Given the description of an element on the screen output the (x, y) to click on. 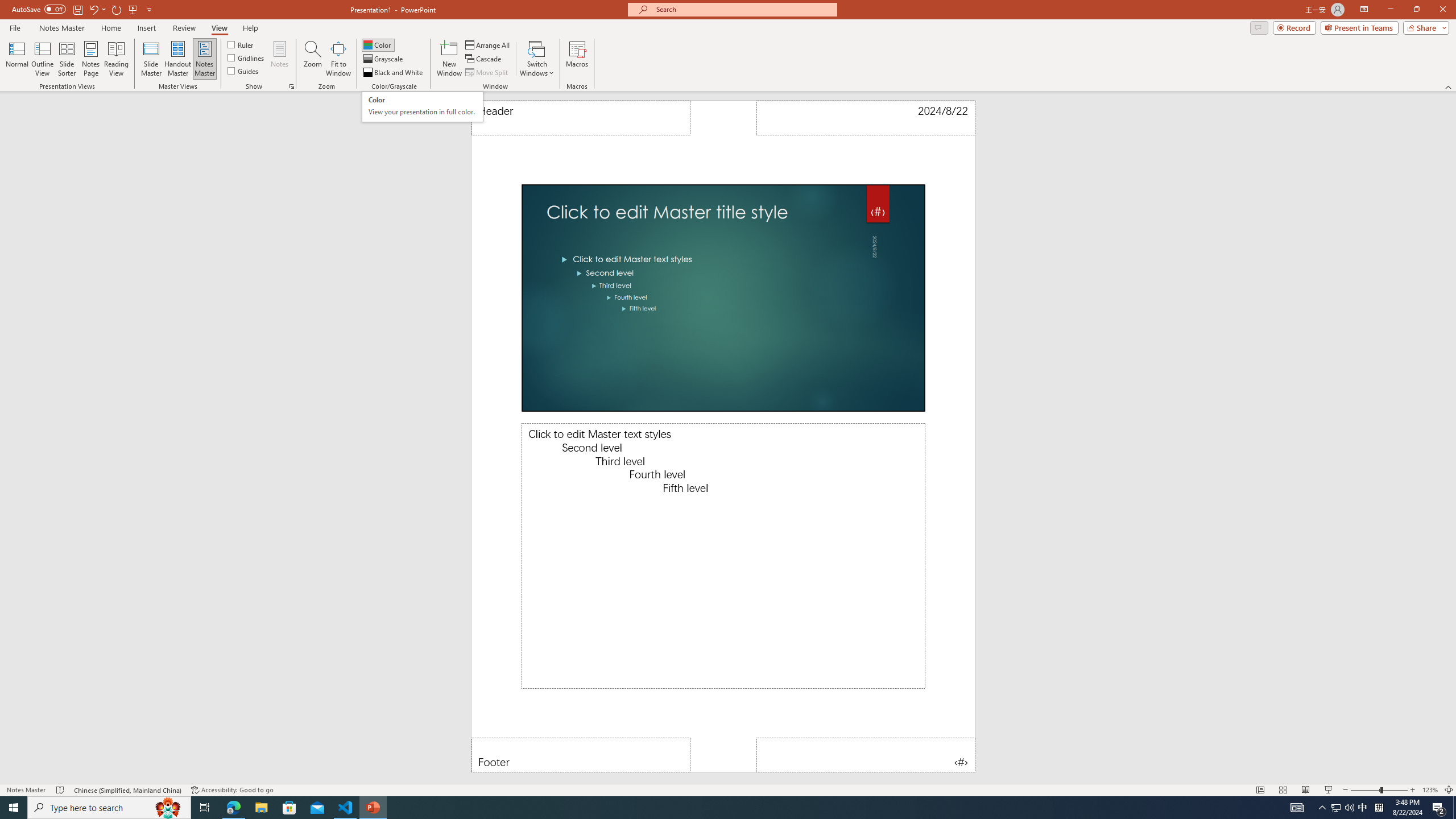
New Window (449, 58)
Zoom 123% (1430, 790)
Guides (243, 69)
Switch Windows (537, 58)
Notes Page (422, 106)
